Given the description of an element on the screen output the (x, y) to click on. 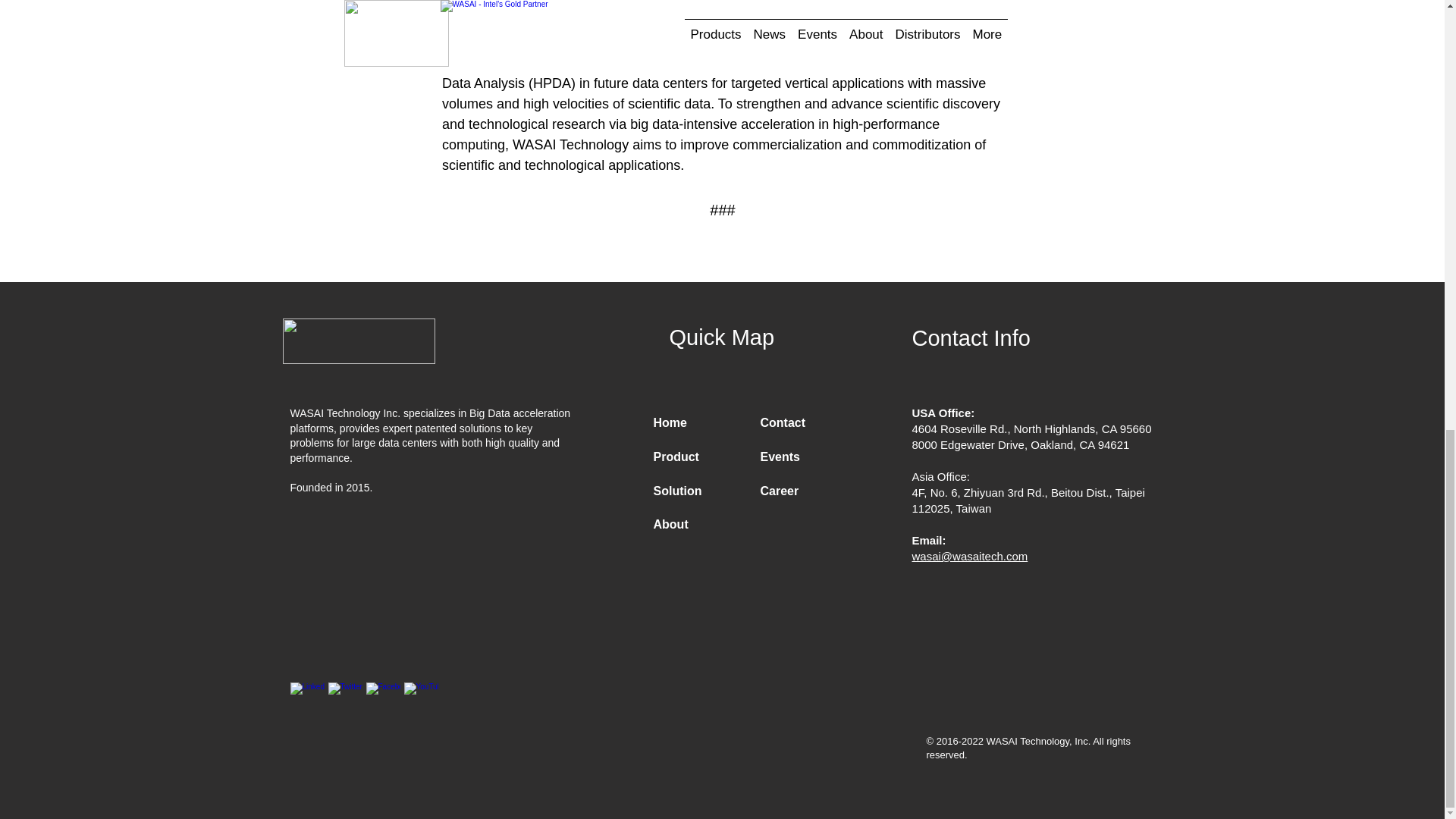
Contact (782, 422)
Solution (677, 490)
Career (778, 490)
Events (779, 456)
Home (670, 422)
Product (675, 456)
About (670, 523)
